Given the description of an element on the screen output the (x, y) to click on. 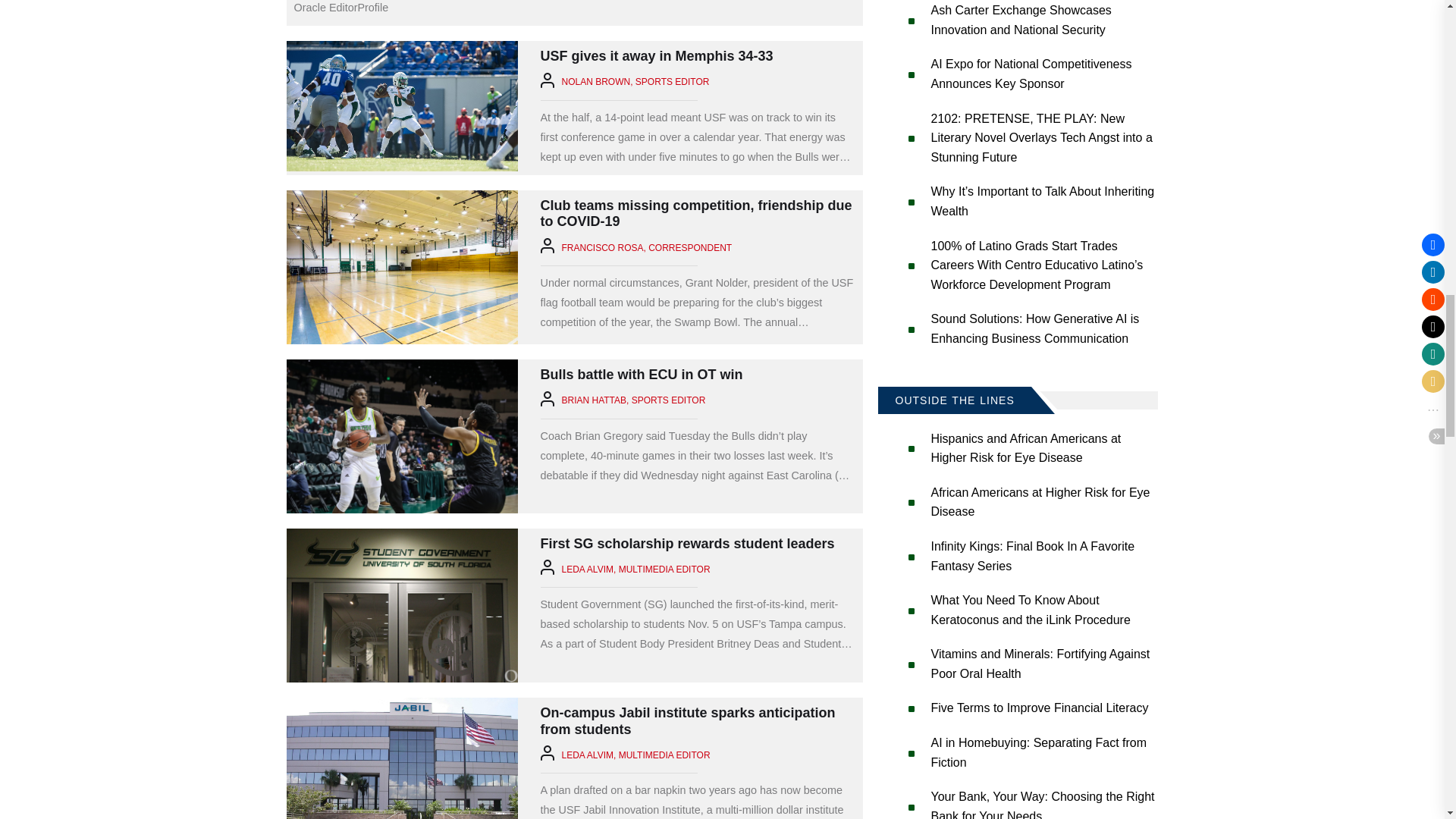
Bulls battle with ECU in OT win (402, 436)
First SG scholarship rewards student leaders (402, 605)
Club teams missing competition, friendship due to COVID-19 (402, 266)
USF gives it away in Memphis 34-33 (402, 105)
On-campus Jabil institute sparks anticipation from students (402, 758)
